Given the description of an element on the screen output the (x, y) to click on. 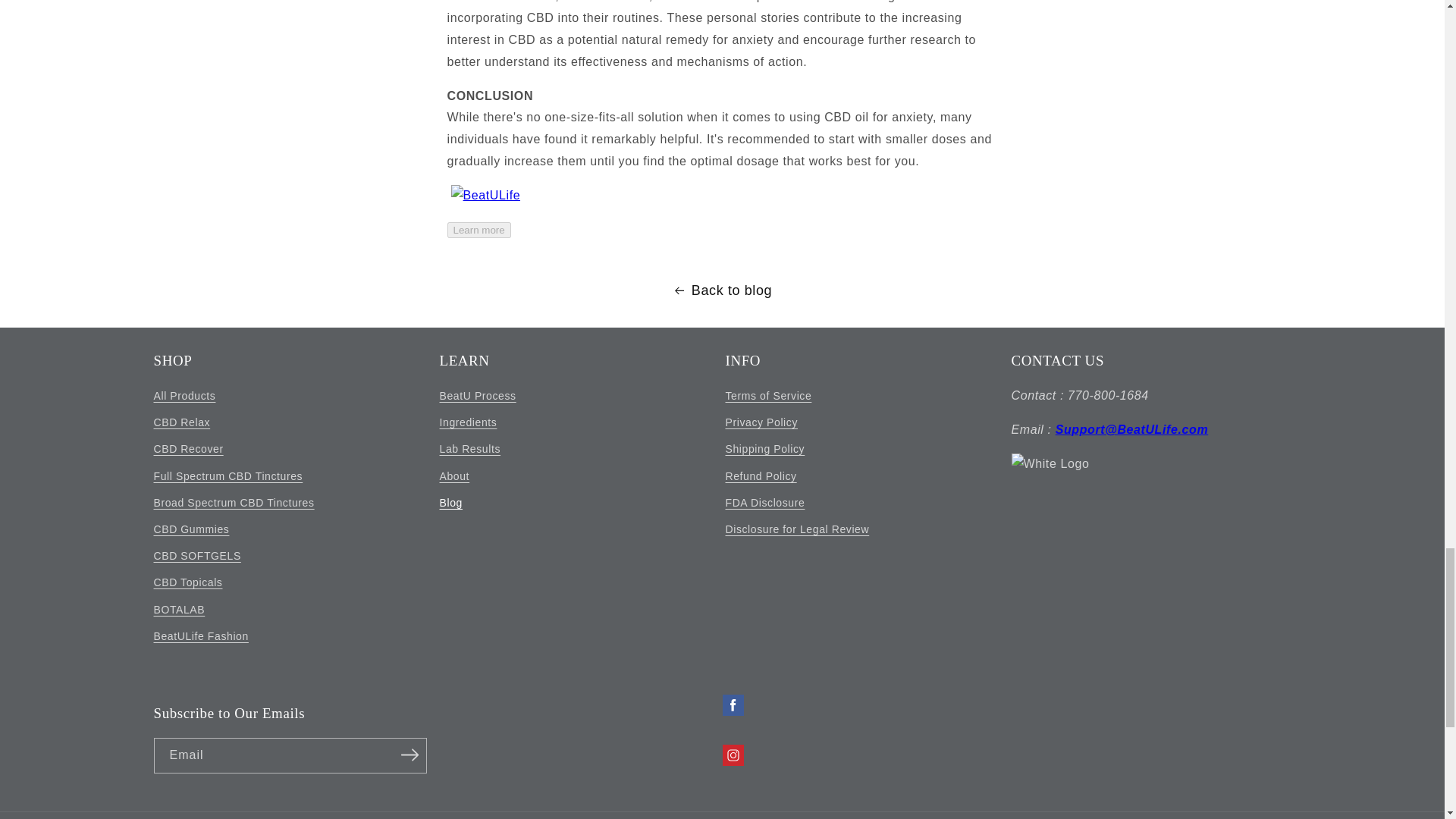
BeatULife (478, 228)
BeatULife (486, 195)
